Given the description of an element on the screen output the (x, y) to click on. 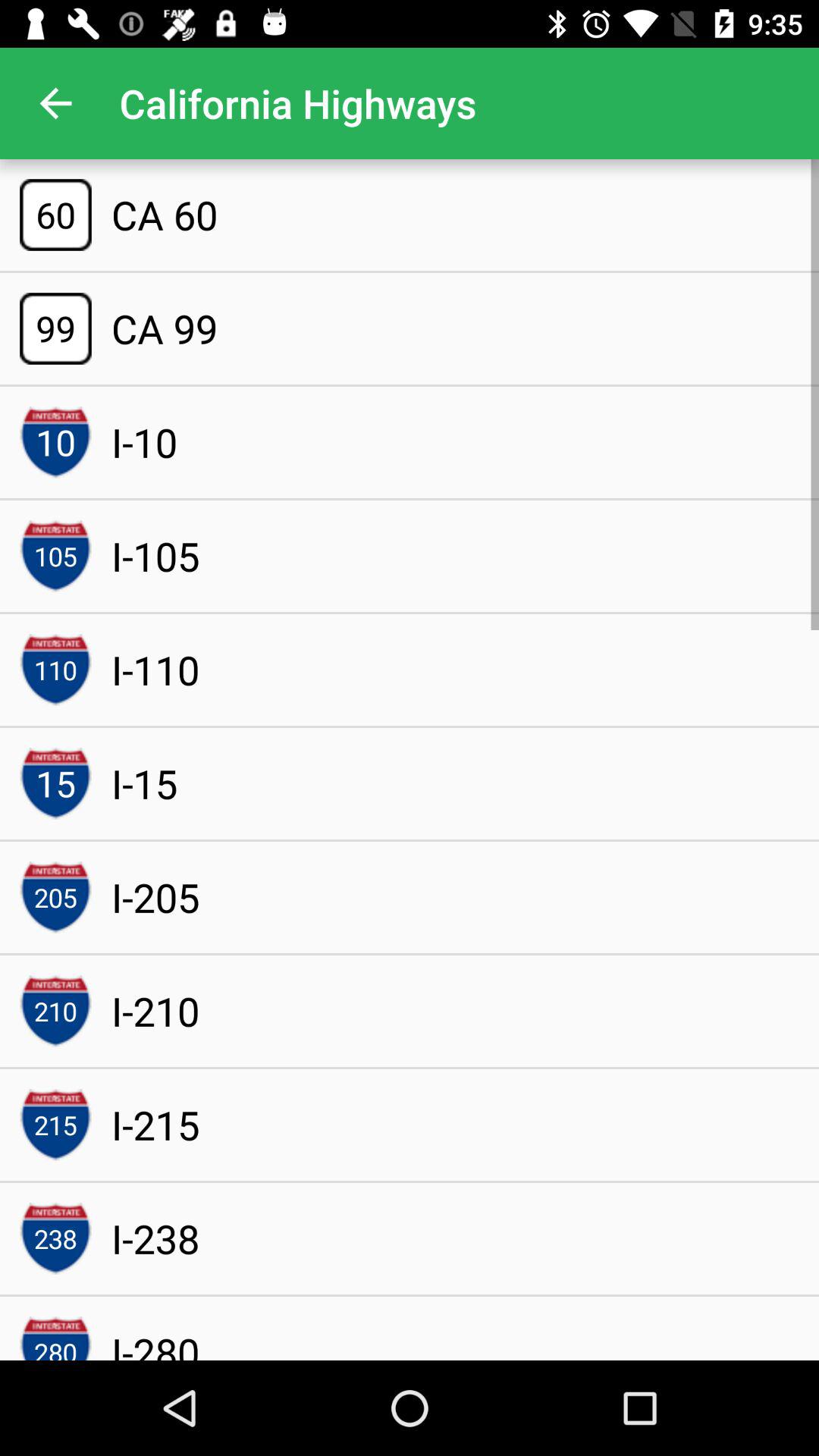
click ca 60 (164, 214)
